Given the description of an element on the screen output the (x, y) to click on. 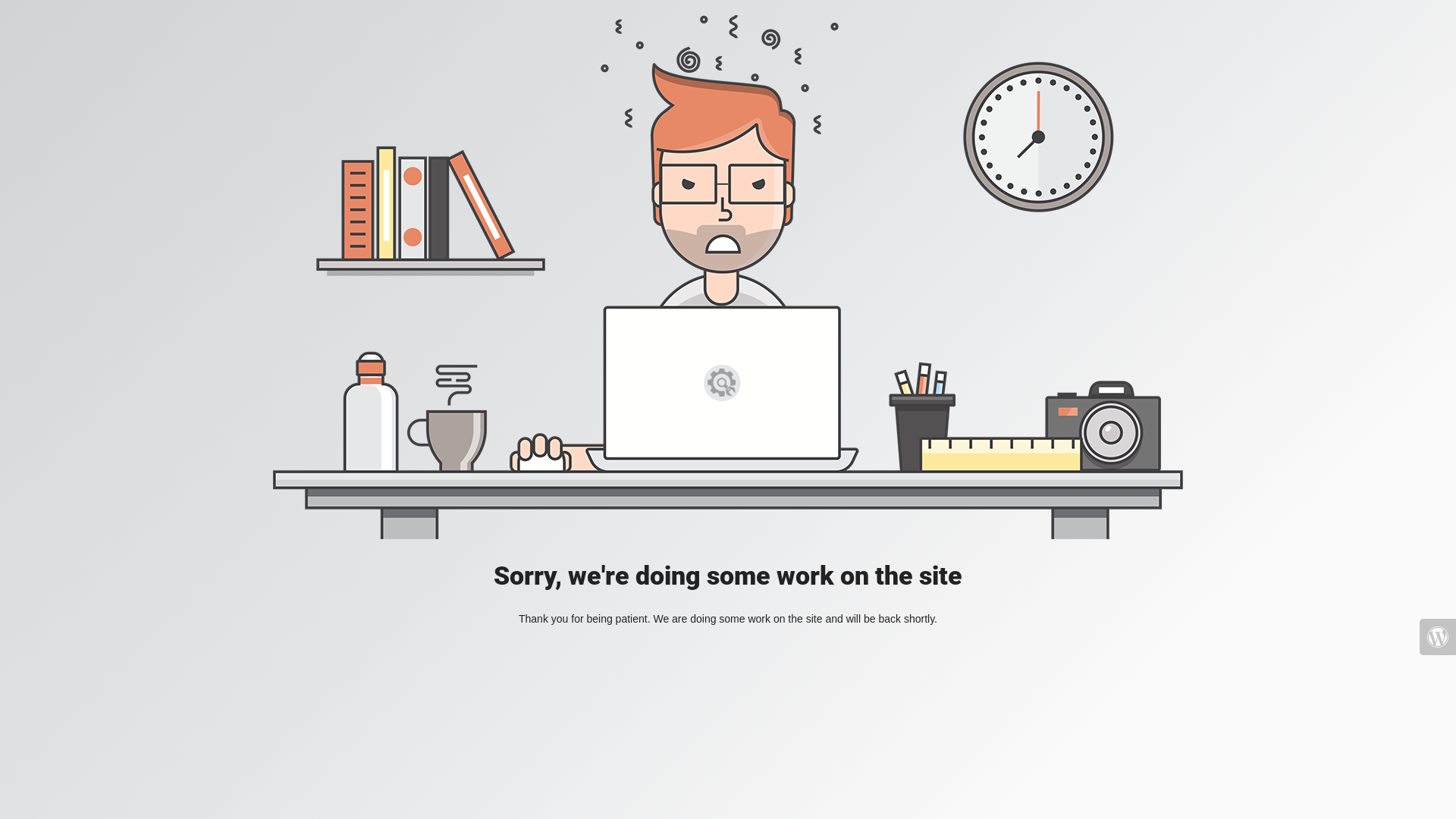
Mad Designer at work Element type: hover (728, 277)
